Given the description of an element on the screen output the (x, y) to click on. 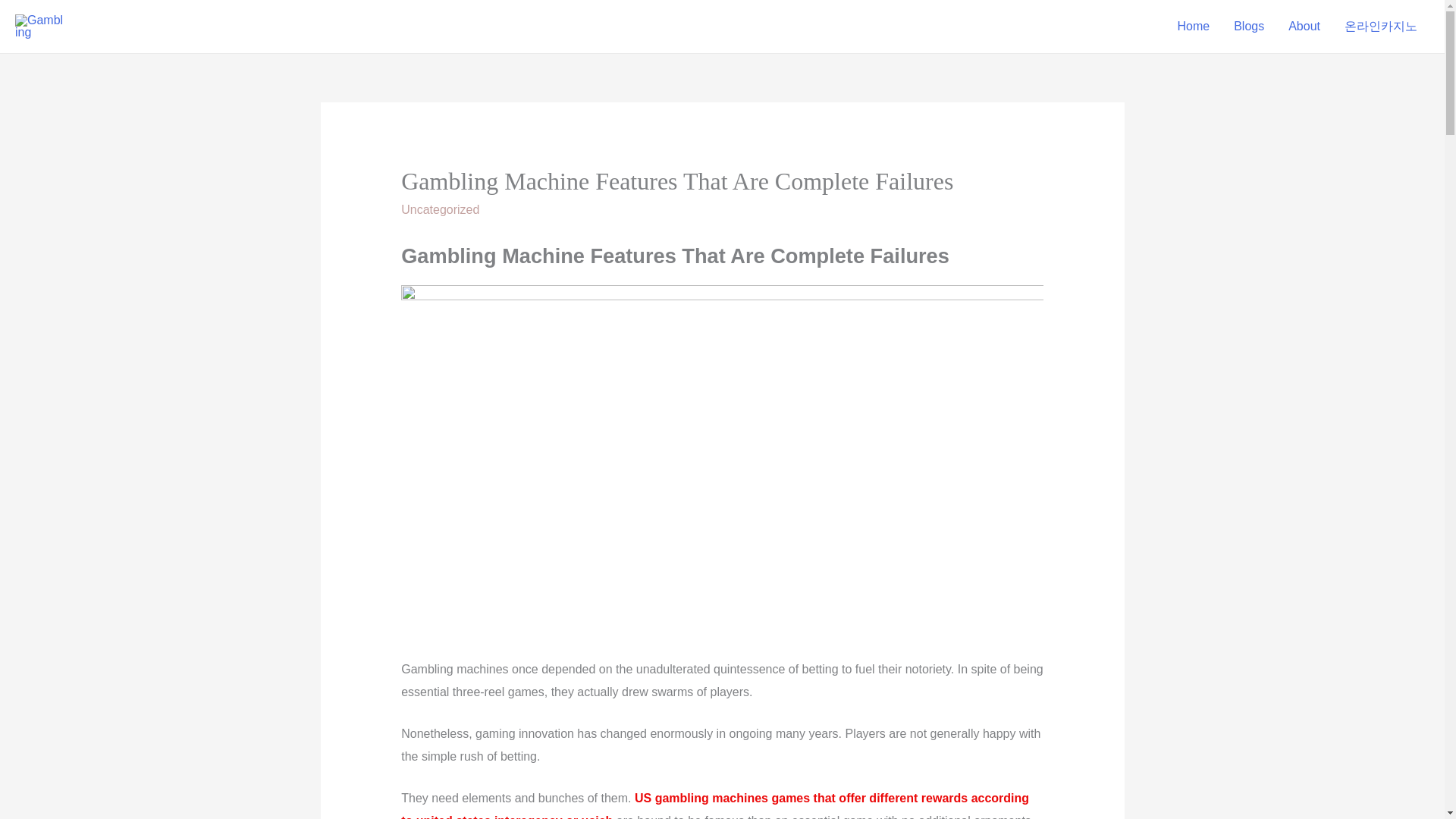
Uncategorized (440, 209)
About (1304, 26)
Blogs (1248, 26)
Home (1192, 26)
